Given the description of an element on the screen output the (x, y) to click on. 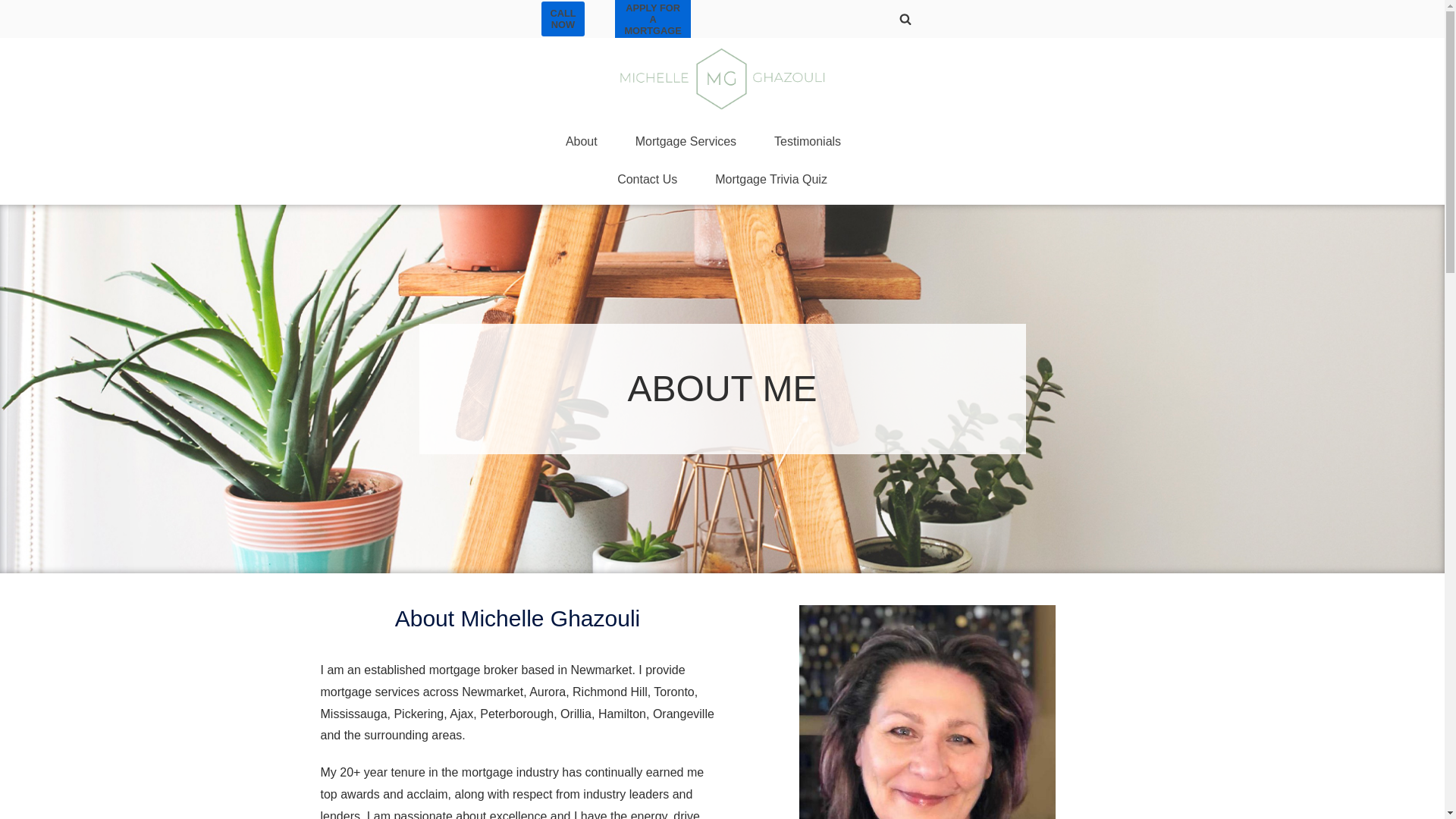
Michelle Ghazouli (721, 77)
APPLY FOR A MORTGAGE (652, 20)
Contact Us (647, 179)
About (581, 141)
Testimonials (807, 141)
Mortgage Services (685, 141)
CALL NOW (563, 18)
Skip to content (15, 7)
Mortgage Trivia Quiz (770, 179)
